Given the description of an element on the screen output the (x, y) to click on. 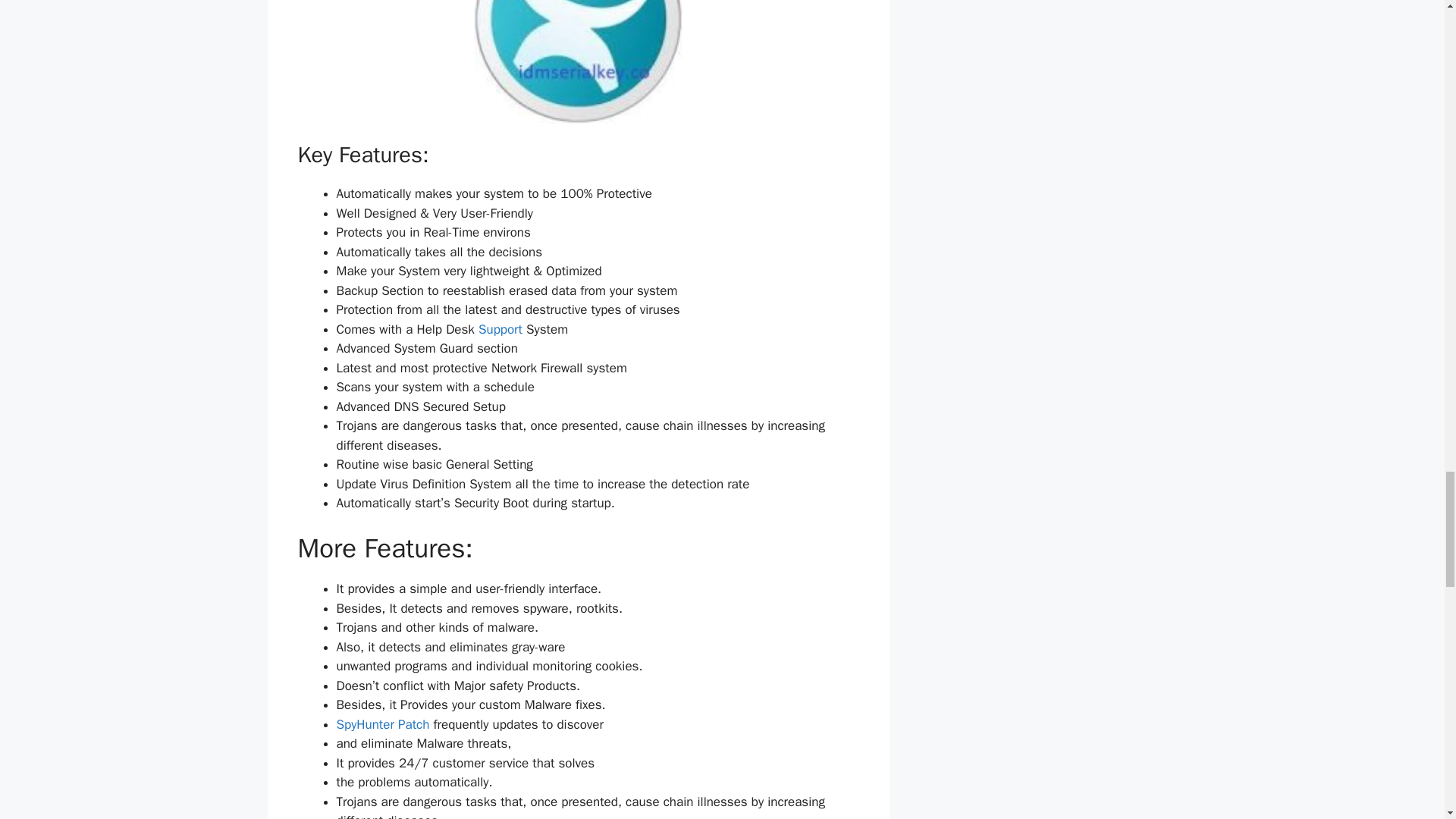
Support (500, 329)
SpyHunter Patch (382, 724)
